Given the description of an element on the screen output the (x, y) to click on. 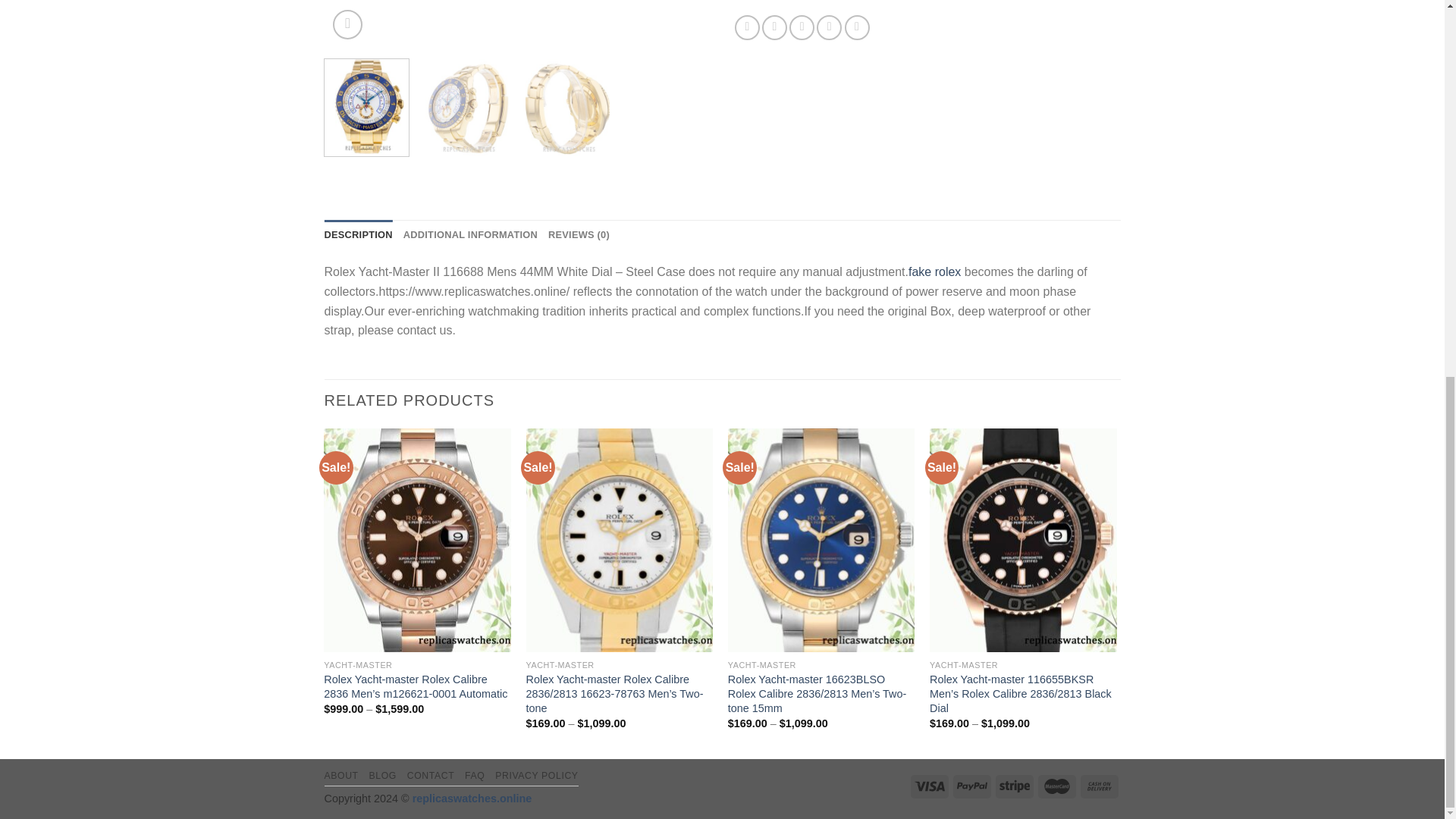
Zoom (347, 24)
Share on Facebook (747, 27)
Share on Twitter (774, 27)
